Given the description of an element on the screen output the (x, y) to click on. 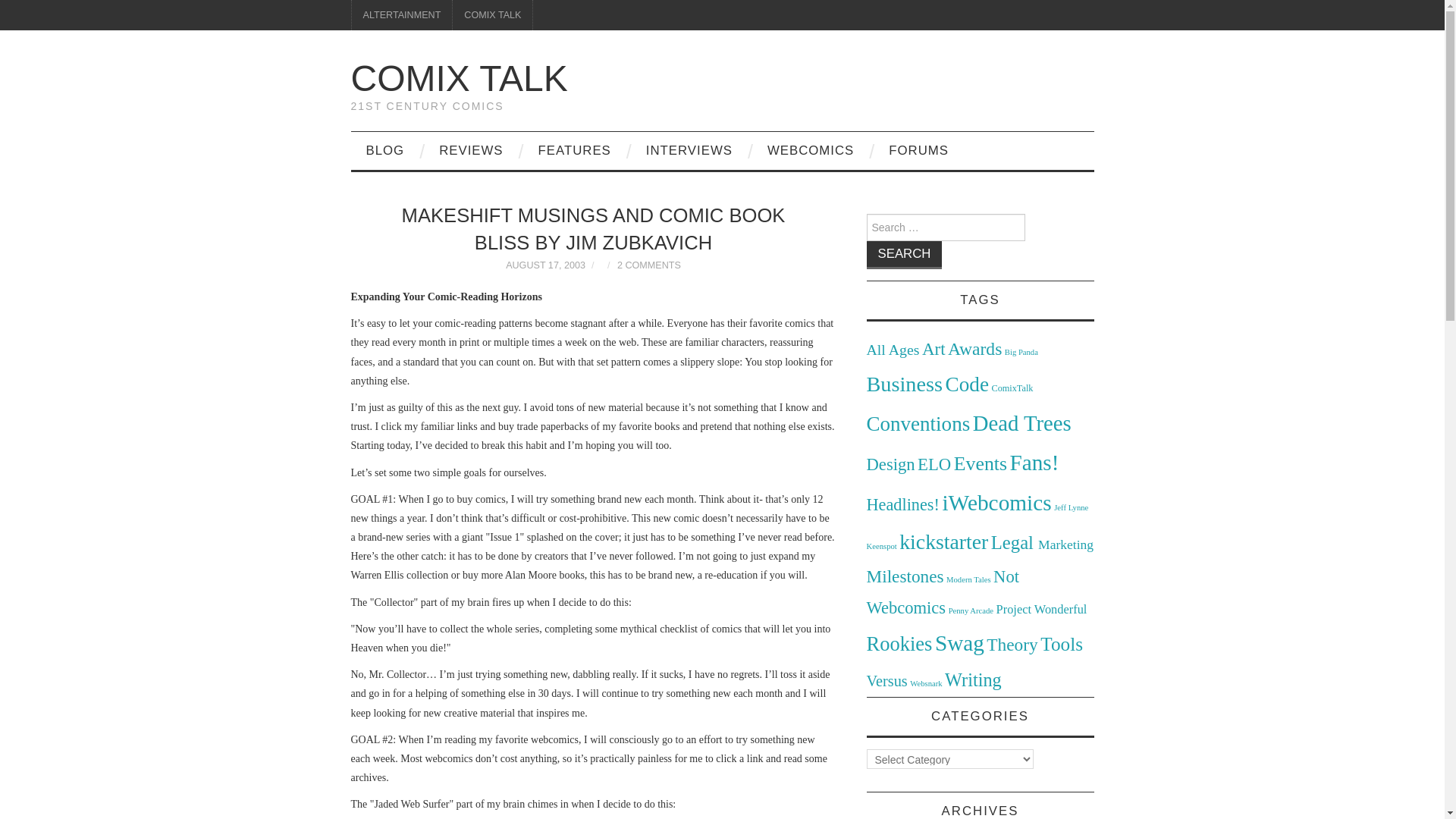
FEATURES (574, 150)
Fans! (1034, 462)
COMIX TALK (458, 78)
Search for: (945, 226)
Jeff Lynne (1070, 507)
2 COMMENTS (649, 265)
COMIX TALK (492, 15)
Search (904, 254)
Search (904, 254)
Events (980, 463)
Big Panda (1021, 352)
Headlines! (902, 504)
Conventions (917, 423)
AUGUST 17, 2003 (545, 265)
kickstarter (943, 541)
